Given the description of an element on the screen output the (x, y) to click on. 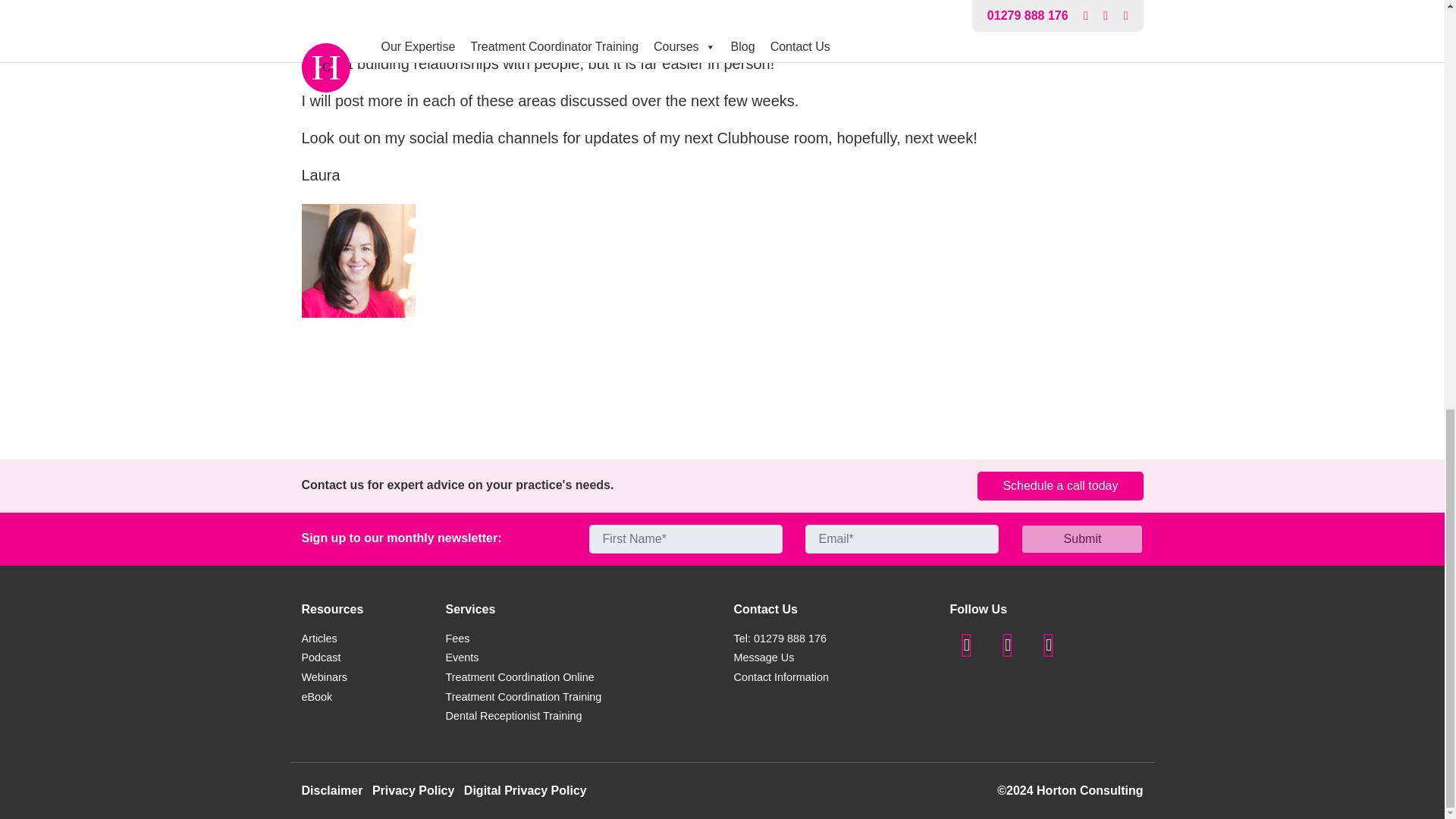
eBook (317, 696)
Dental Receptionist Training (513, 715)
Digital Privacy Policy (525, 789)
Submit (1082, 538)
Events (462, 657)
Articles (319, 638)
Treatment Coordination Online (519, 676)
Webinars (324, 676)
Treatment Coordination Training (523, 696)
Tel: 01279 888 176 (779, 638)
